Given the description of an element on the screen output the (x, y) to click on. 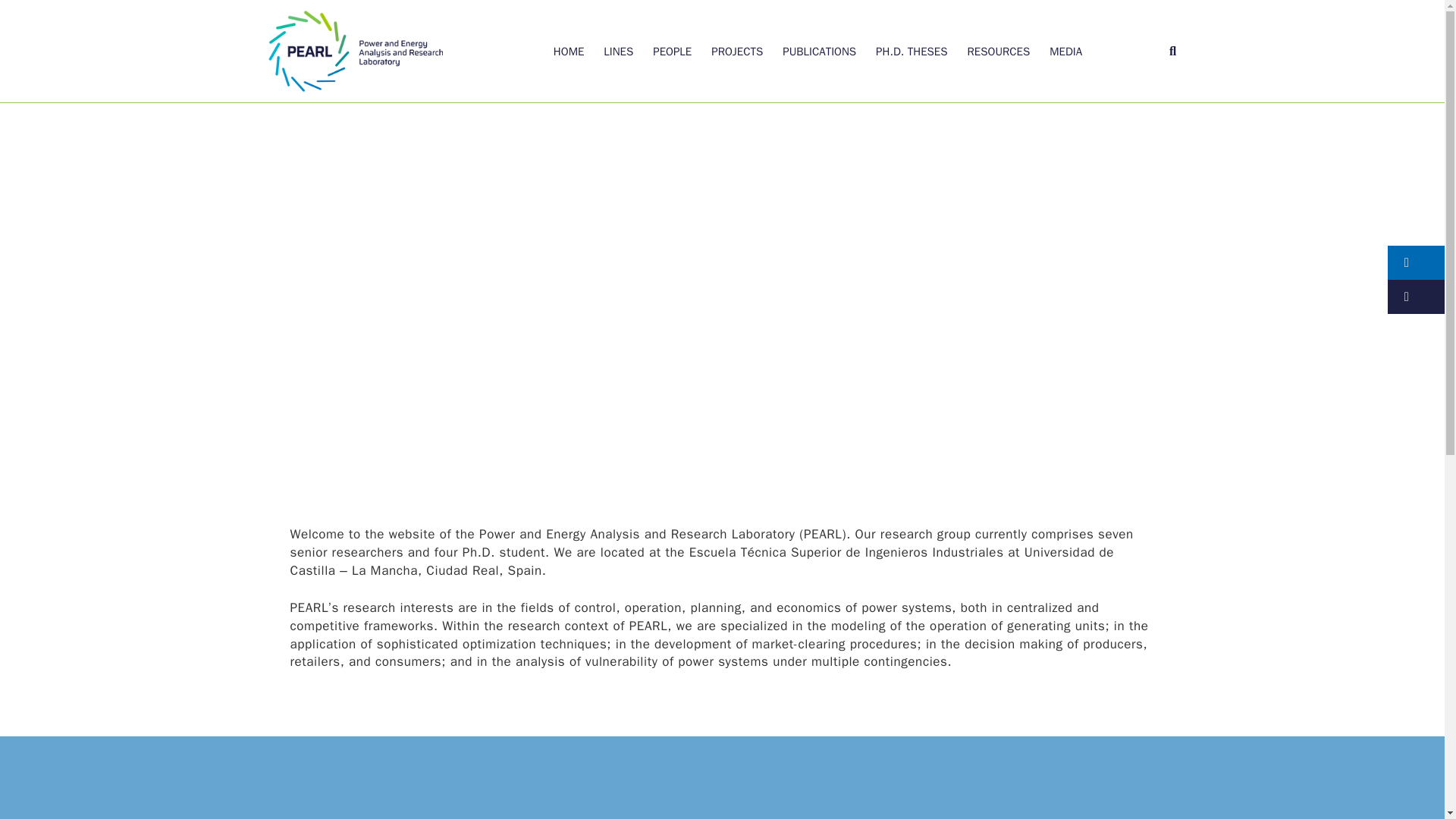
RESOURCES (998, 51)
PUBLICATIONS (818, 51)
PROJECTS (736, 51)
PH.D. THESES (911, 51)
